Given the description of an element on the screen output the (x, y) to click on. 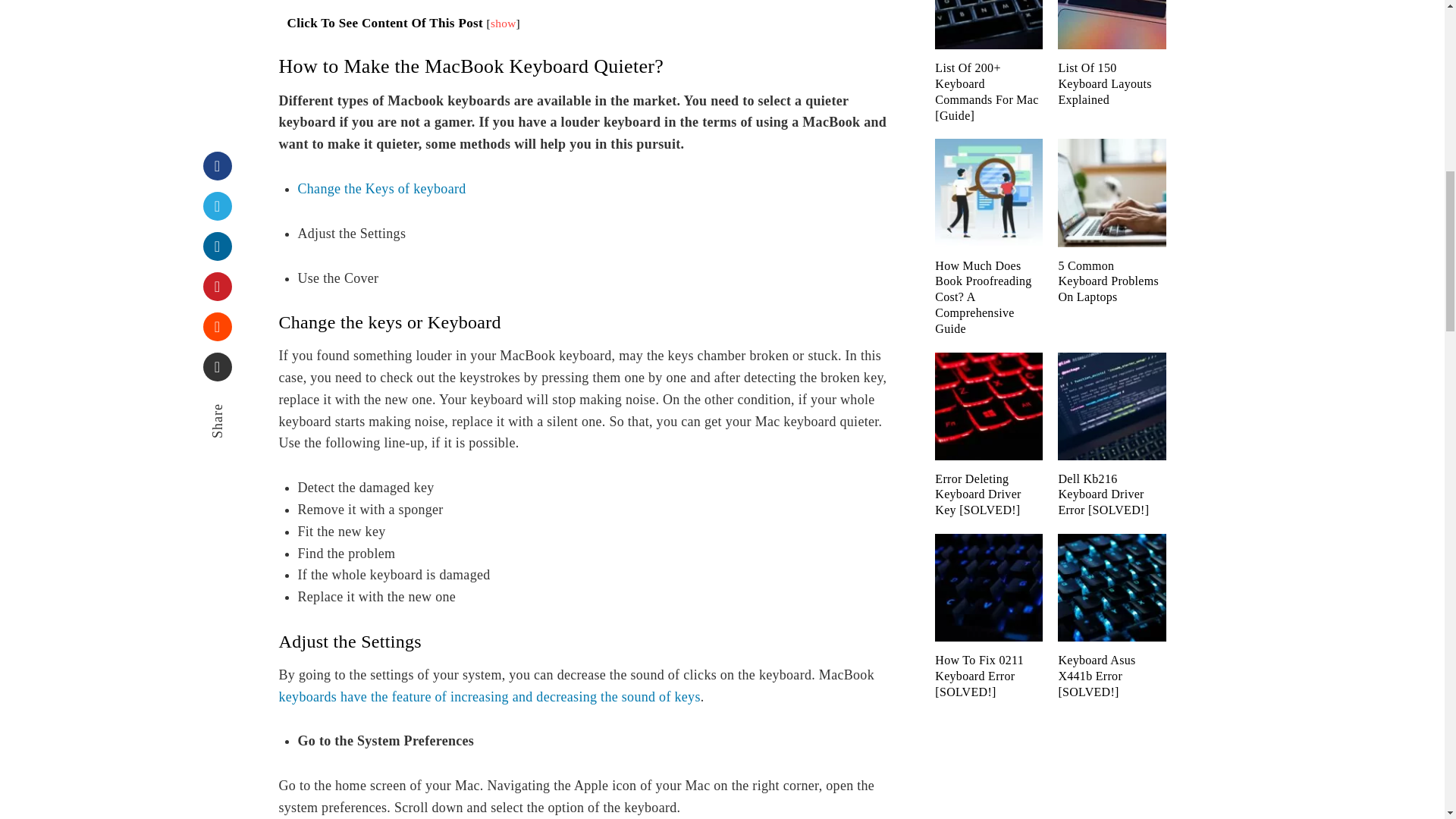
Change the Keys of keyboard (381, 188)
show (503, 22)
